Given the description of an element on the screen output the (x, y) to click on. 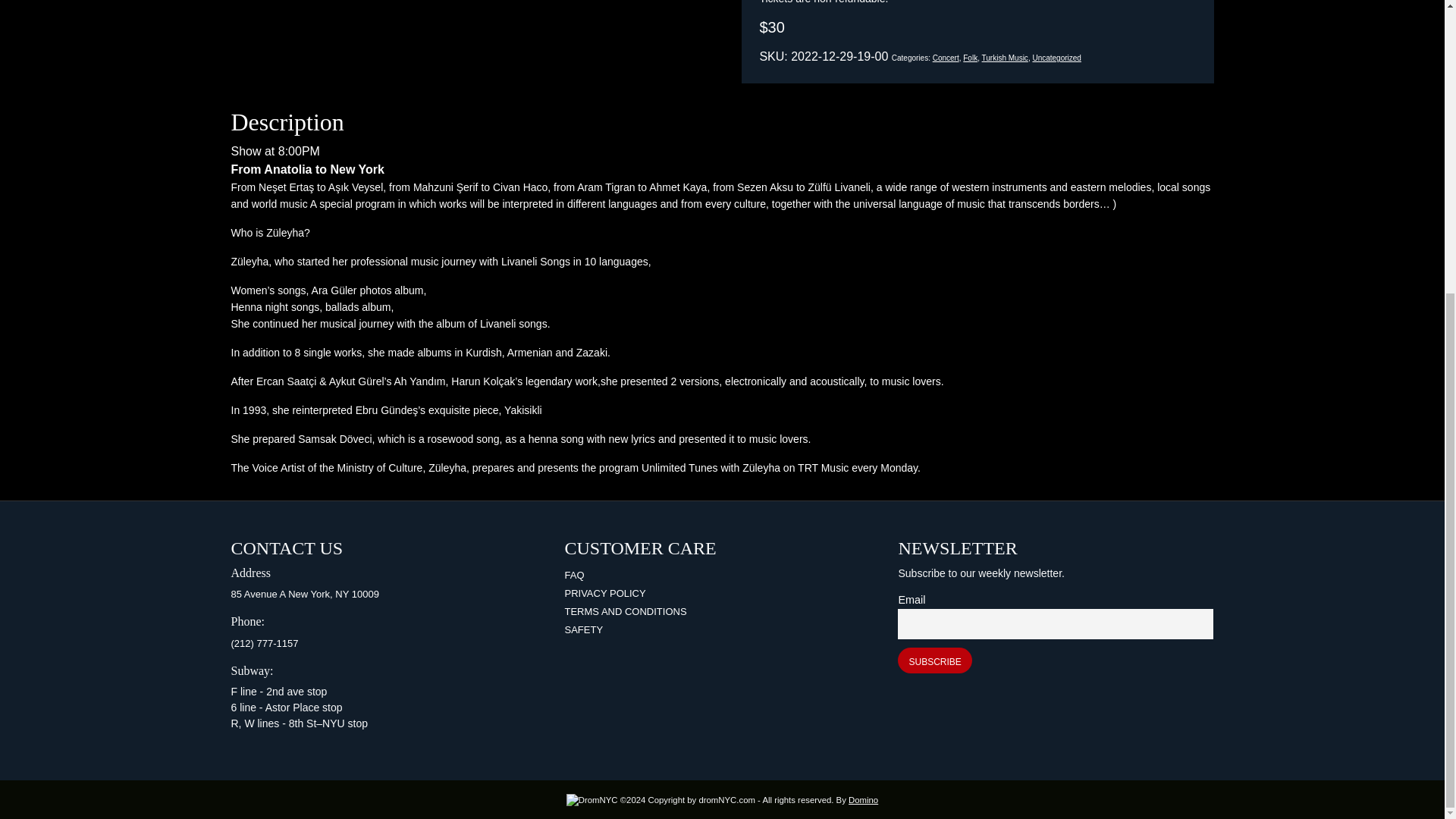
Folk (969, 58)
85 Avenue A New York, NY 10009 (304, 593)
PRIVACY POLICY (604, 593)
SAFETY (583, 629)
TERMS AND CONDITIONS (624, 611)
Uncategorized (1056, 58)
Subscribe (934, 660)
FAQ (573, 574)
Subscribe (934, 660)
Domino (862, 799)
Turkish Music (1004, 58)
Concert (946, 58)
